Given the description of an element on the screen output the (x, y) to click on. 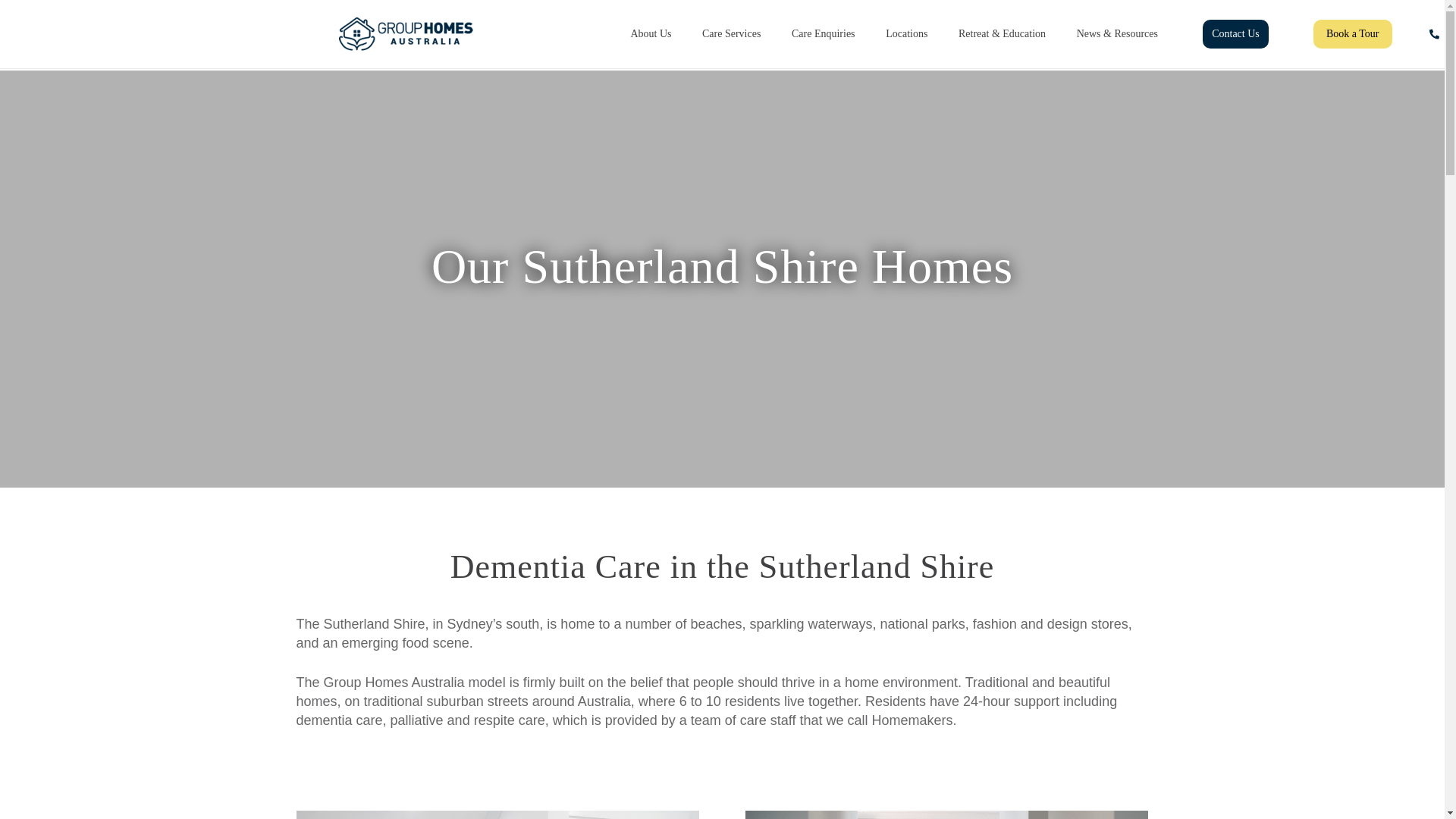
Group Homes Australia 11.6.20 - WEB - 004 (496, 814)
Screenshot 2023-05-31 at 2.31.05 pm (946, 814)
